Given the description of an element on the screen output the (x, y) to click on. 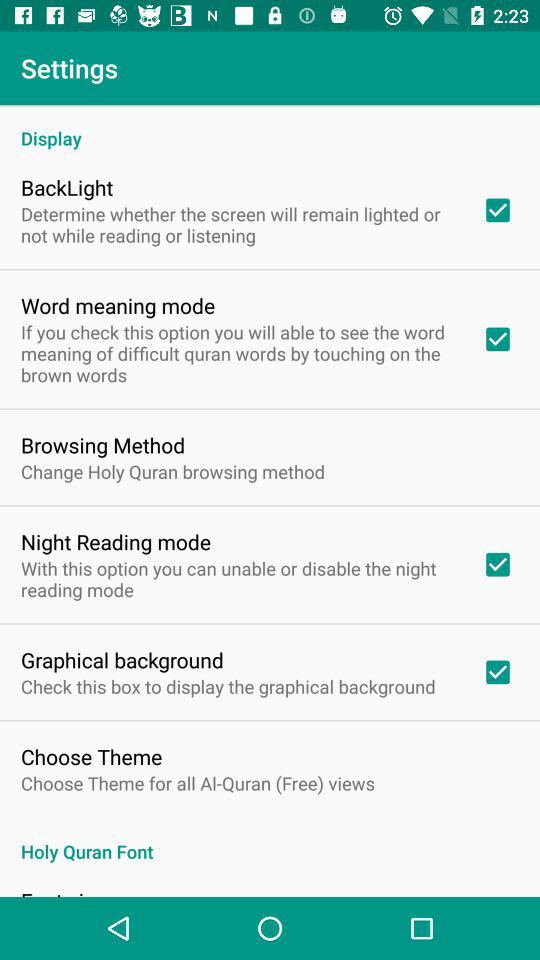
click the icon above word meaning mode icon (238, 224)
